Given the description of an element on the screen output the (x, y) to click on. 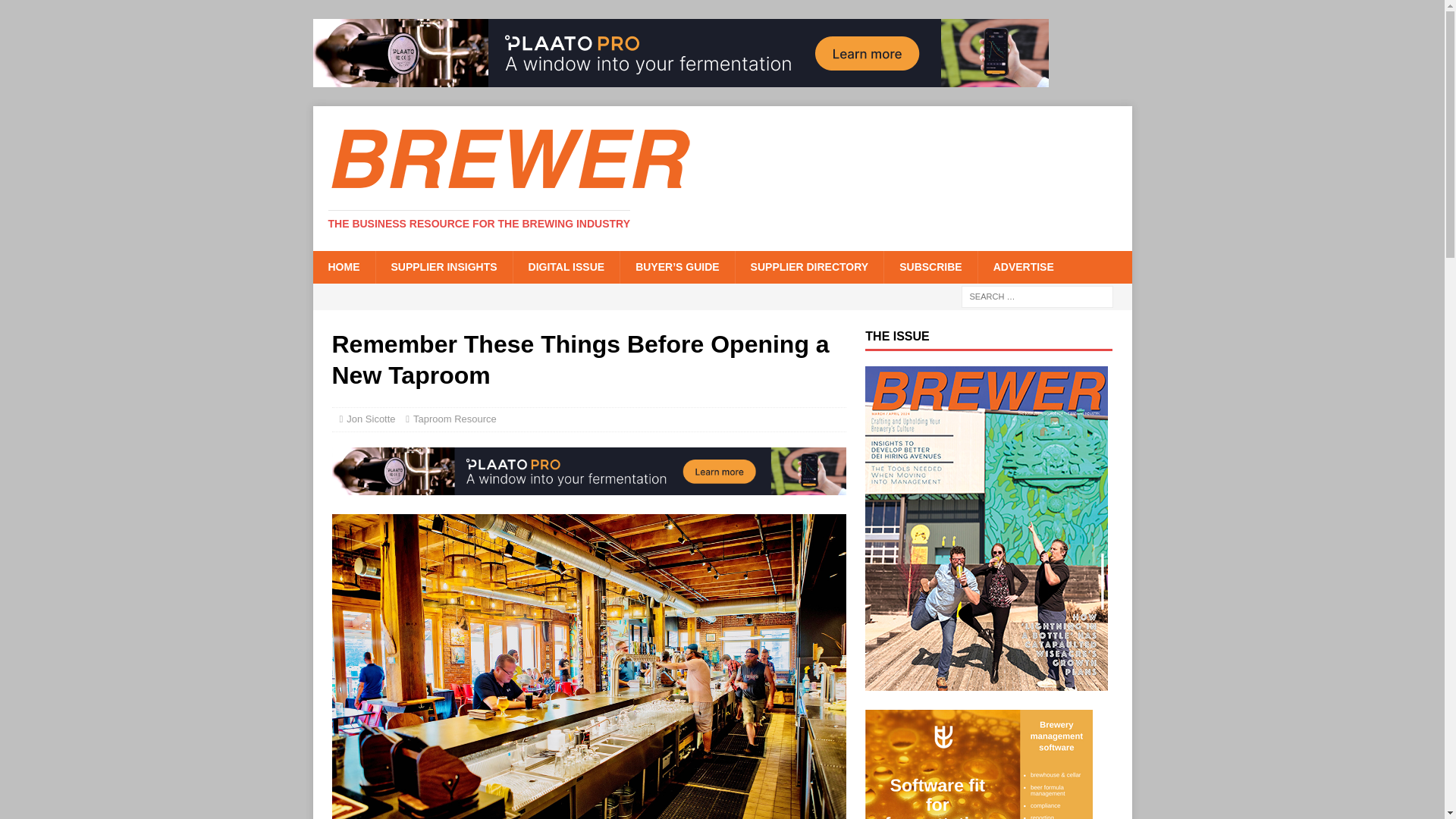
SUPPLIER INSIGHTS (443, 266)
THE BUSINESS RESOURCE FOR THE BREWING INDUSTRY (478, 223)
SUBSCRIBE (929, 266)
ADVERTISE (1022, 266)
HOME (343, 266)
SUPPLIER DIRECTORY (809, 266)
DIGITAL ISSUE (566, 266)
Jon Sicotte (370, 419)
Taproom Resource (454, 419)
Search (56, 11)
